Given the description of an element on the screen output the (x, y) to click on. 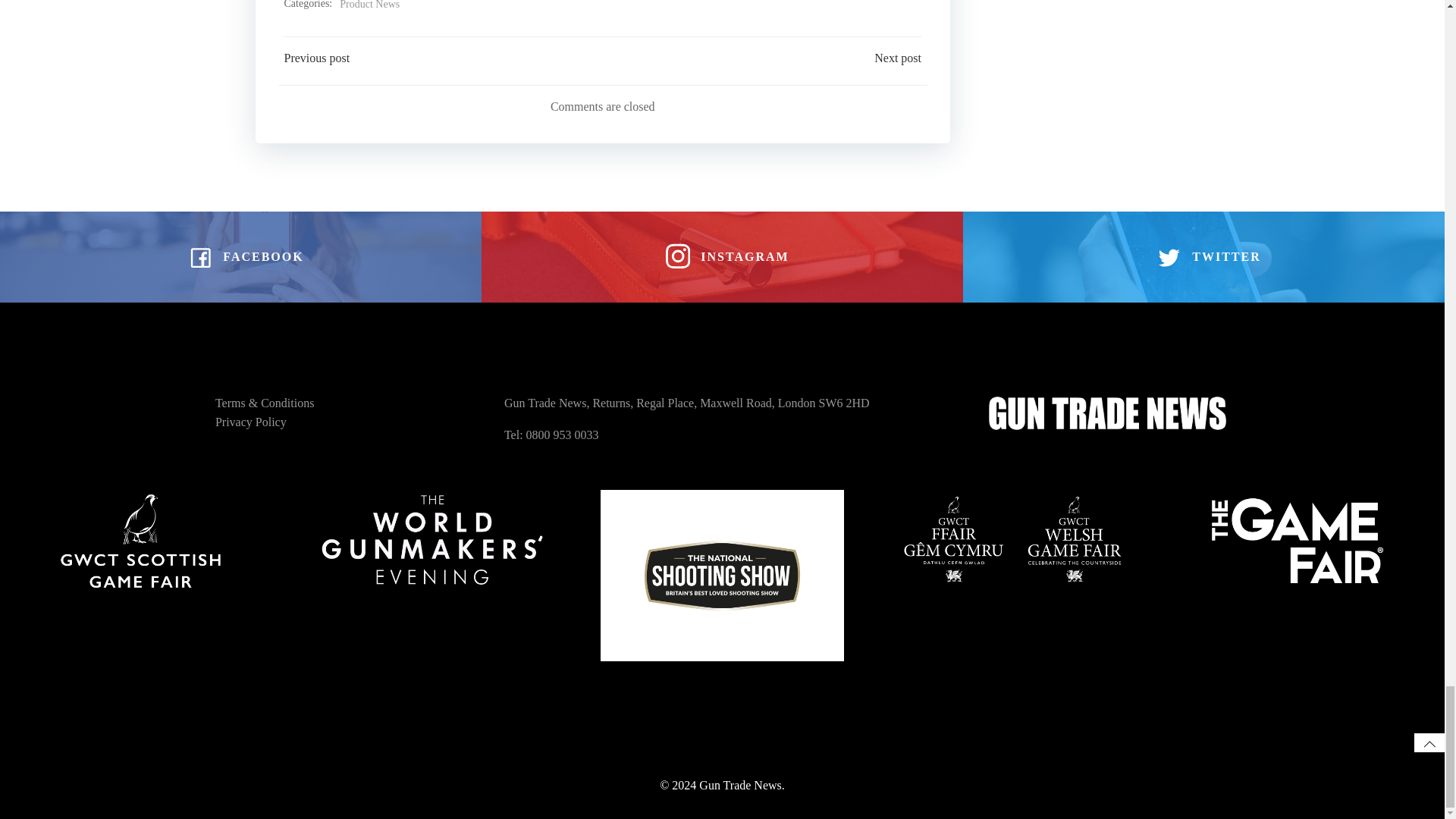
Product News (368, 6)
Privacy Policy (250, 422)
Next post (898, 58)
INSTAGRAM (722, 256)
Previous post (316, 58)
TWITTER (1203, 256)
FACEBOOK (239, 256)
